Given the description of an element on the screen output the (x, y) to click on. 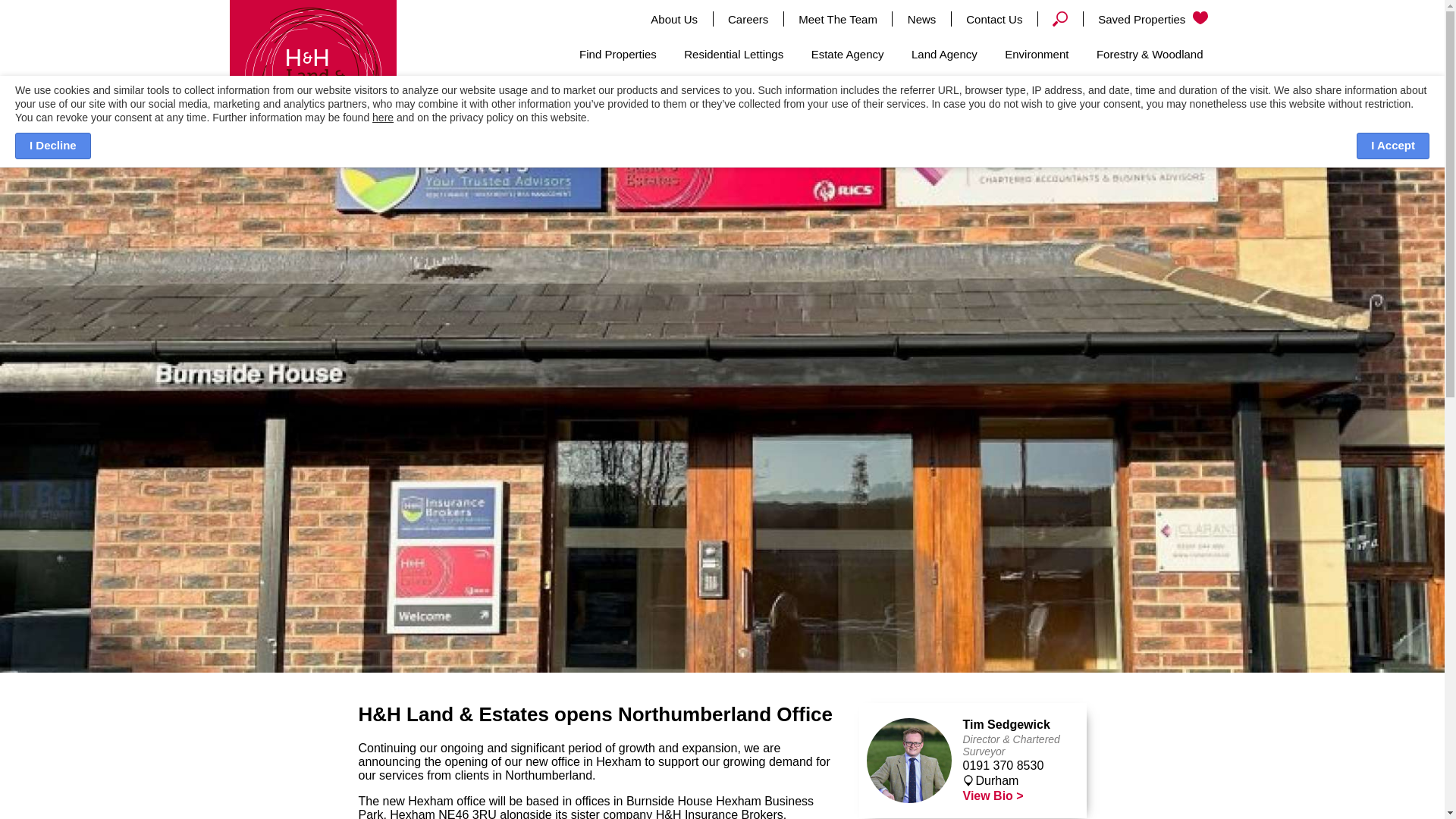
About Us (673, 18)
Residential Lettings (732, 54)
Environment (1036, 54)
I Accept (1392, 145)
Contact Us (993, 18)
here (382, 117)
News (921, 18)
Careers (748, 18)
Find Properties (617, 54)
Instant Valuation (1000, 108)
Land Agency (944, 54)
Saved Properties (1152, 19)
Estate Agency (847, 54)
I Decline (52, 145)
Book A Valuation (1146, 108)
